Given the description of an element on the screen output the (x, y) to click on. 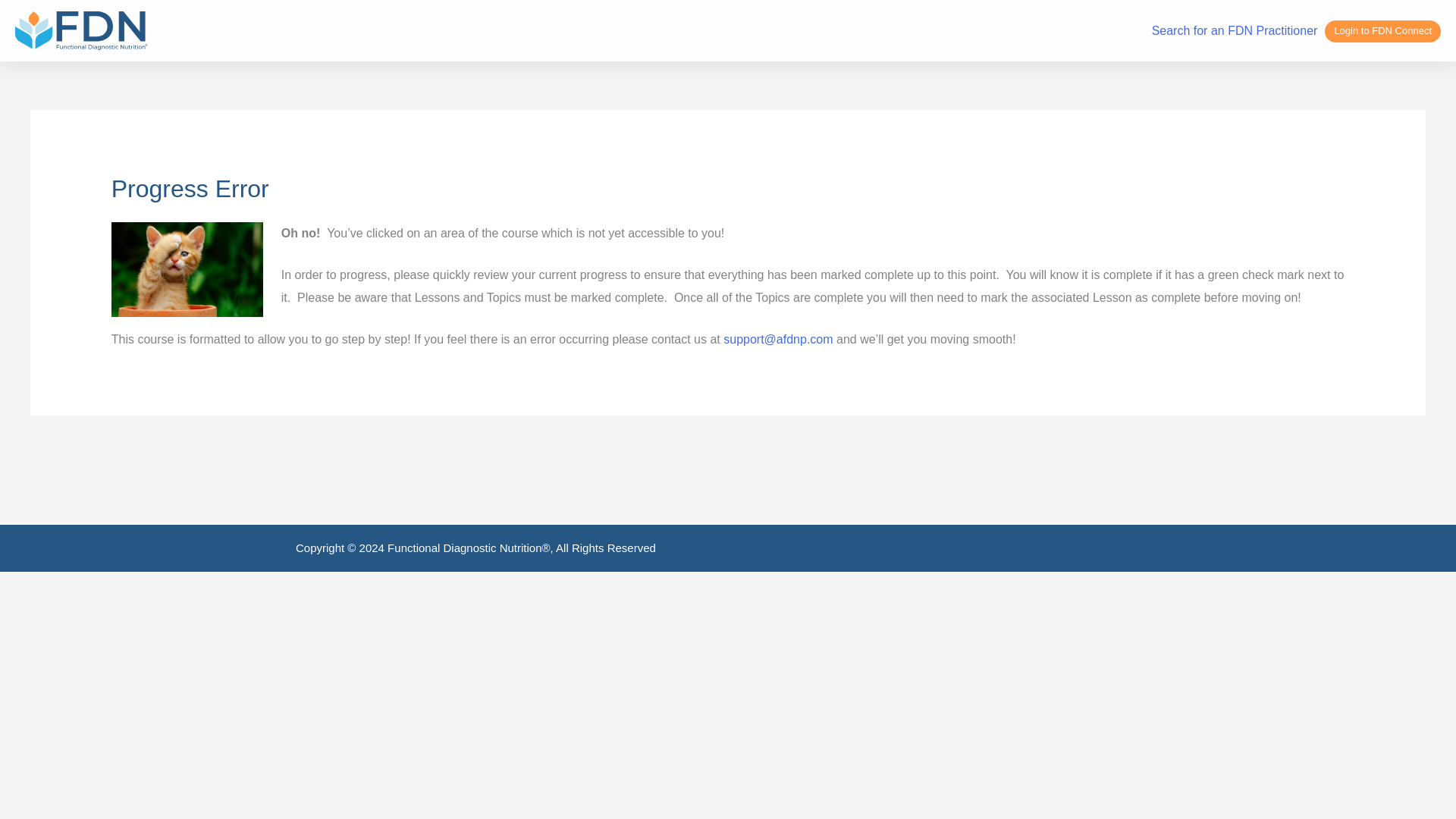
Search for an FDN Practitioner (1234, 30)
Login to FDN Connect (1382, 31)
